Given the description of an element on the screen output the (x, y) to click on. 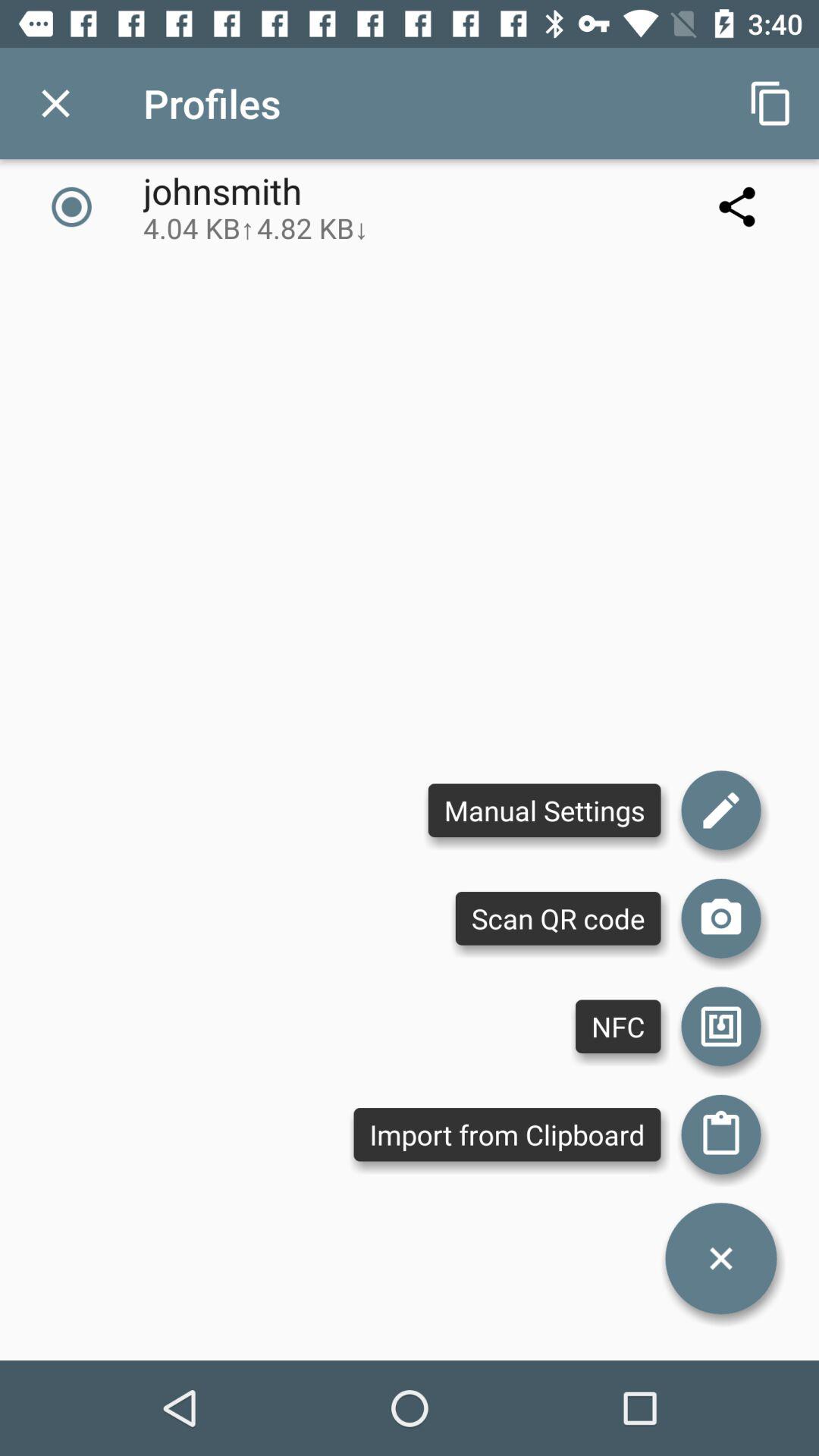
edit information (721, 810)
